Given the description of an element on the screen output the (x, y) to click on. 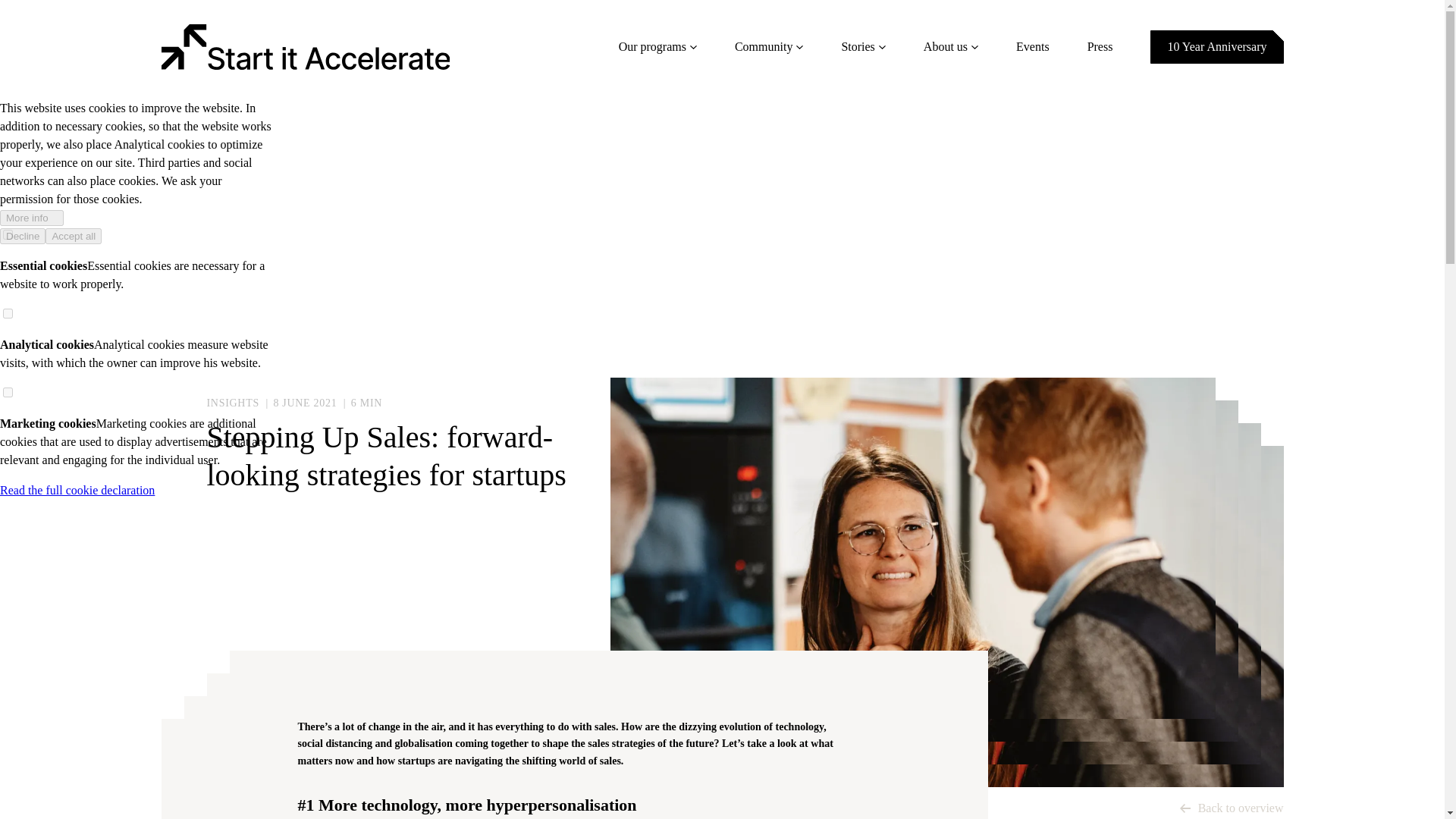
About us (950, 46)
10 Year Anniversary (1216, 46)
Press (1100, 46)
Back to overview (1231, 808)
Our programs (657, 46)
Stories (863, 46)
Events (1032, 46)
Community (769, 46)
